Given the description of an element on the screen output the (x, y) to click on. 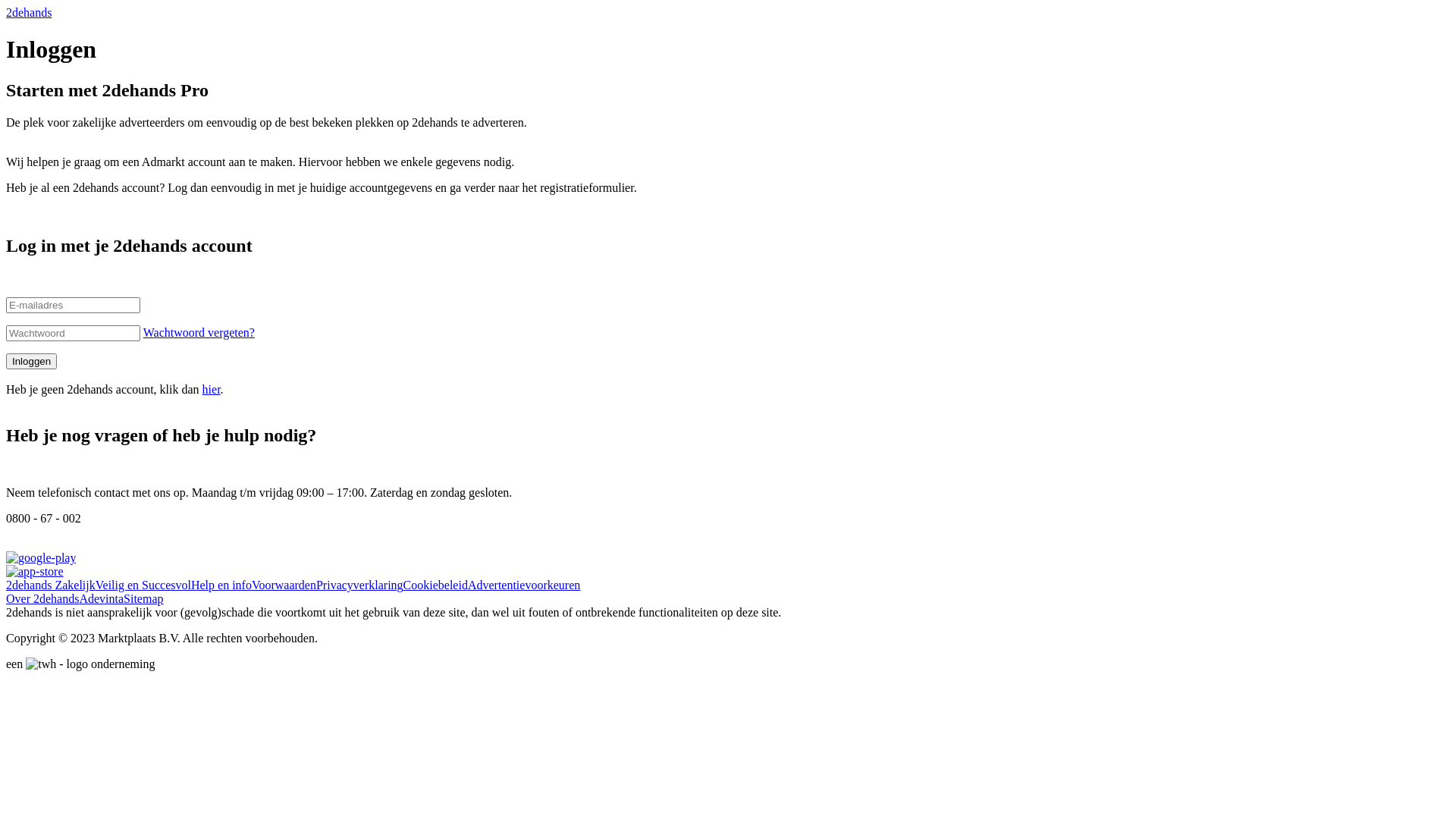
Voorwaarden Element type: text (283, 584)
2dehands Zakelijk Element type: text (50, 584)
2dehands Element type: text (28, 12)
Wachtwoord vergeten? Element type: text (198, 332)
hier Element type: text (211, 388)
Inloggen Element type: text (31, 361)
Advertentievoorkeuren Element type: text (523, 584)
Cookiebeleid Element type: text (435, 584)
Privacyverklaring Element type: text (359, 584)
Veilig en Succesvol Element type: text (143, 584)
Help en info Element type: text (221, 584)
Sitemap Element type: text (143, 598)
Over 2dehands Element type: text (42, 598)
Adevinta Element type: text (100, 598)
